Given the description of an element on the screen output the (x, y) to click on. 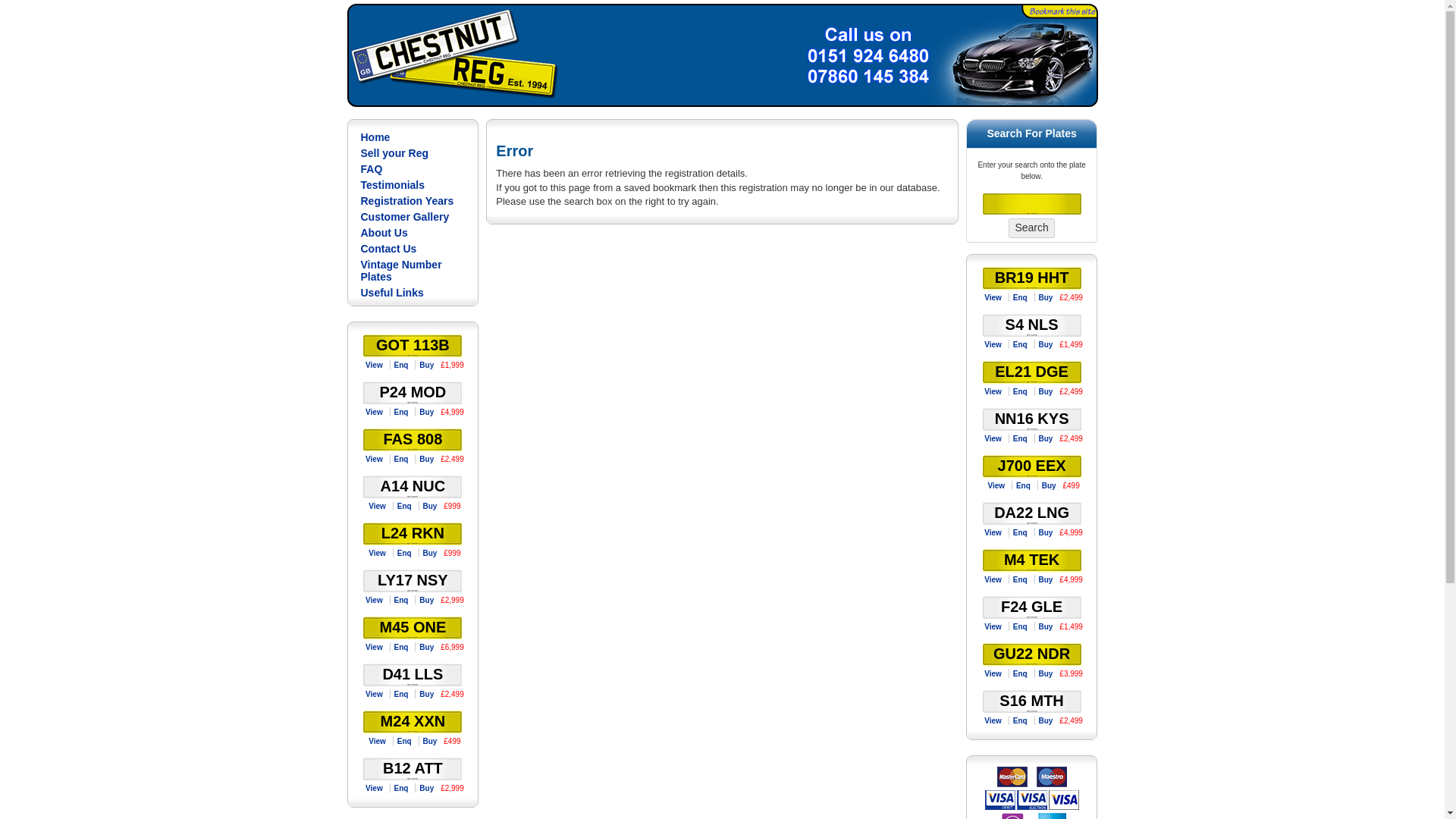
FAS 808 (412, 438)
Buy (426, 600)
FAQ (412, 166)
Buy Registration FAS 808 (426, 459)
Home (412, 135)
View (377, 506)
Enq (403, 552)
Enquire About Registration P24 MOD (401, 411)
Buy Registration L24 RKN (430, 552)
Enq (401, 646)
Vintage Number Plates (412, 268)
Search (1031, 228)
Enq (401, 600)
Buy (426, 365)
Preview Registration L24 RKN (377, 552)
